Given the description of an element on the screen output the (x, y) to click on. 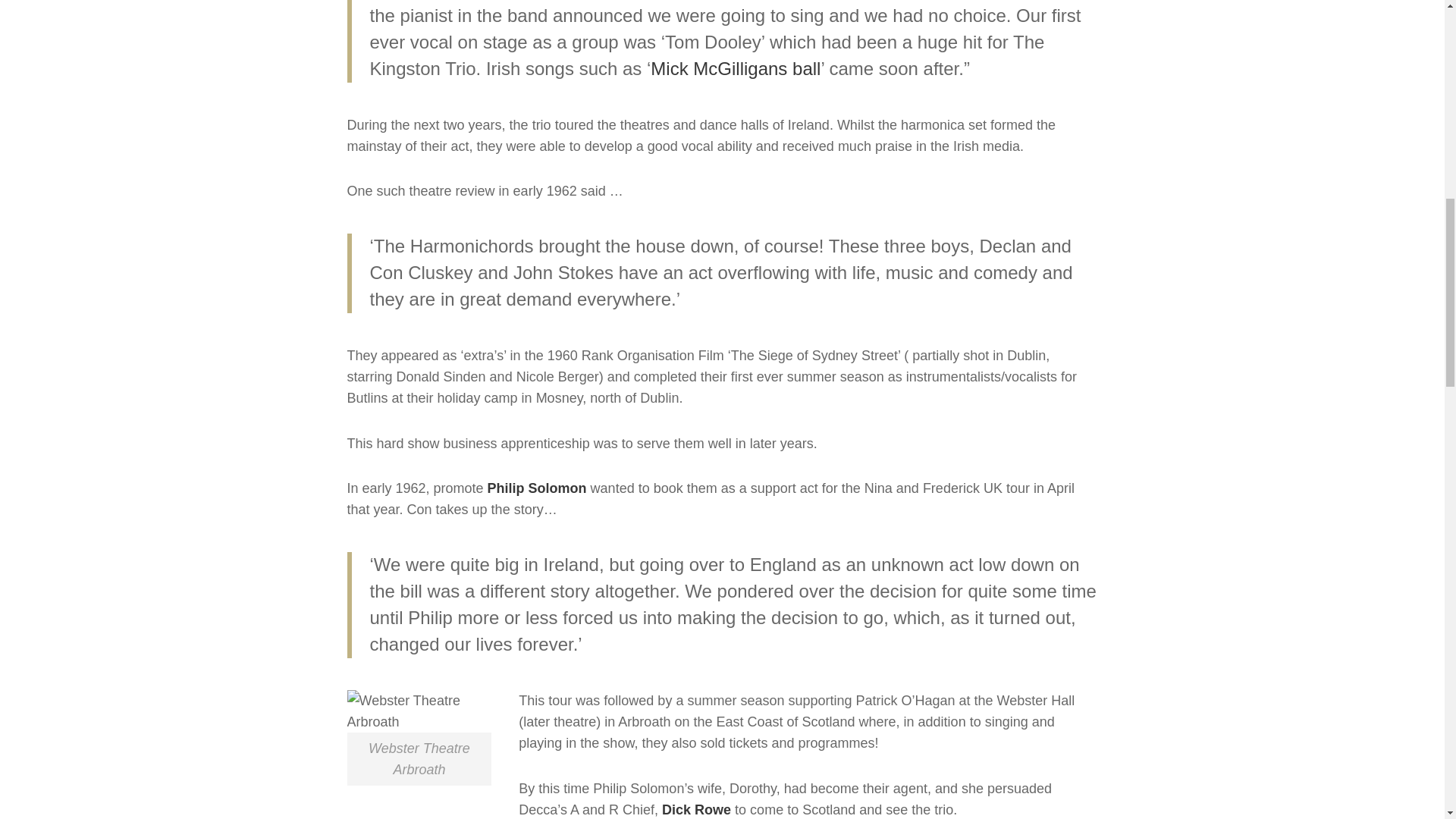
Dick Rowe (696, 809)
Philip Solomon (536, 488)
Mick McGilligans ball (735, 68)
Webster Theatre Arbroath (419, 711)
